Given the description of an element on the screen output the (x, y) to click on. 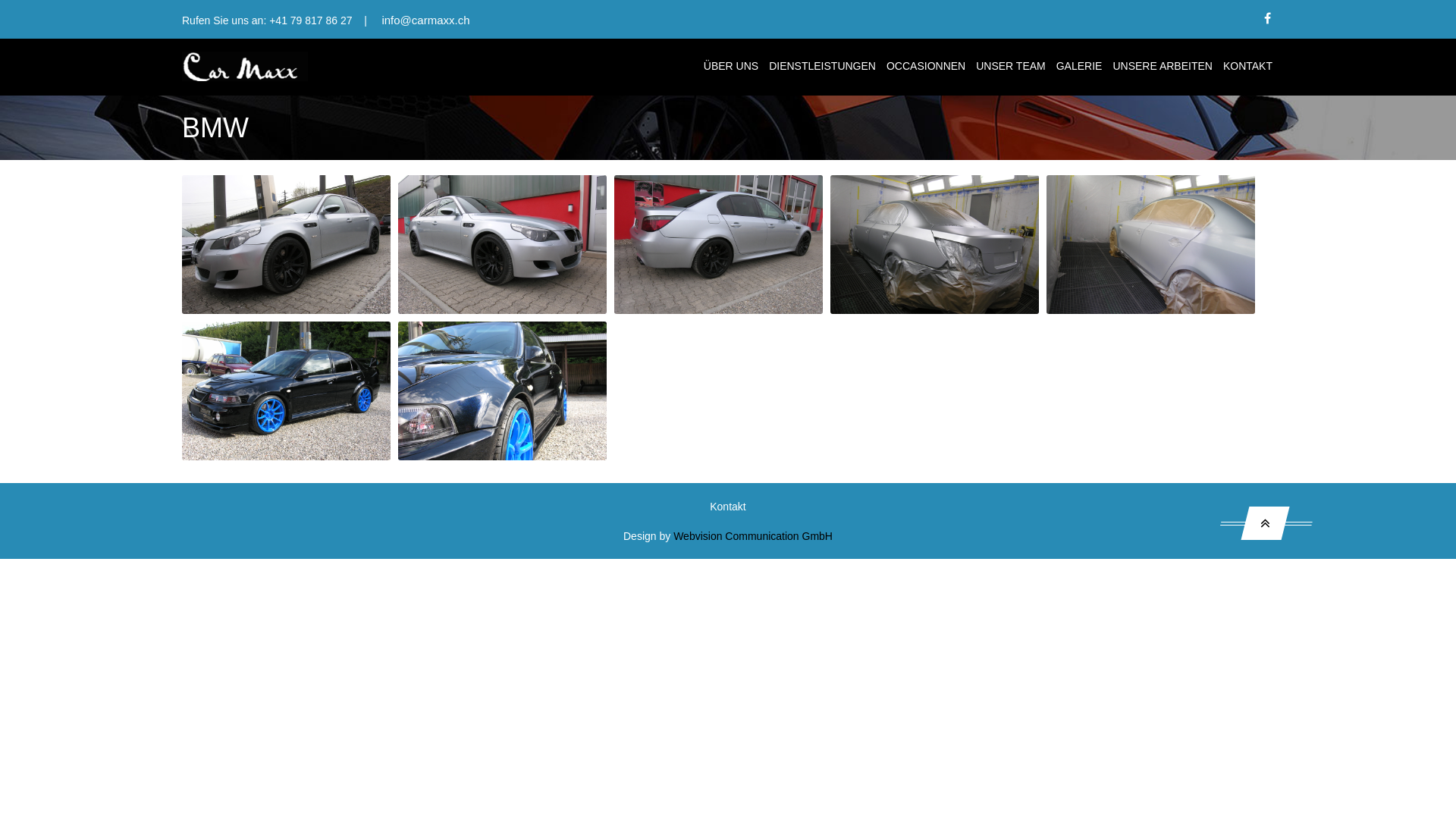
GALERIE Element type: text (1079, 66)
info@carmaxx.ch Element type: text (425, 19)
DIENSTLEISTUNGEN Element type: text (822, 66)
KONTAKT Element type: text (1247, 66)
UNSERE ARBEITEN Element type: text (1161, 66)
UNSER TEAM Element type: text (1010, 66)
OCCASIONNEN Element type: text (925, 66)
Kontakt Element type: text (727, 506)
Webvision Communication GmbH Element type: text (752, 536)
